Given the description of an element on the screen output the (x, y) to click on. 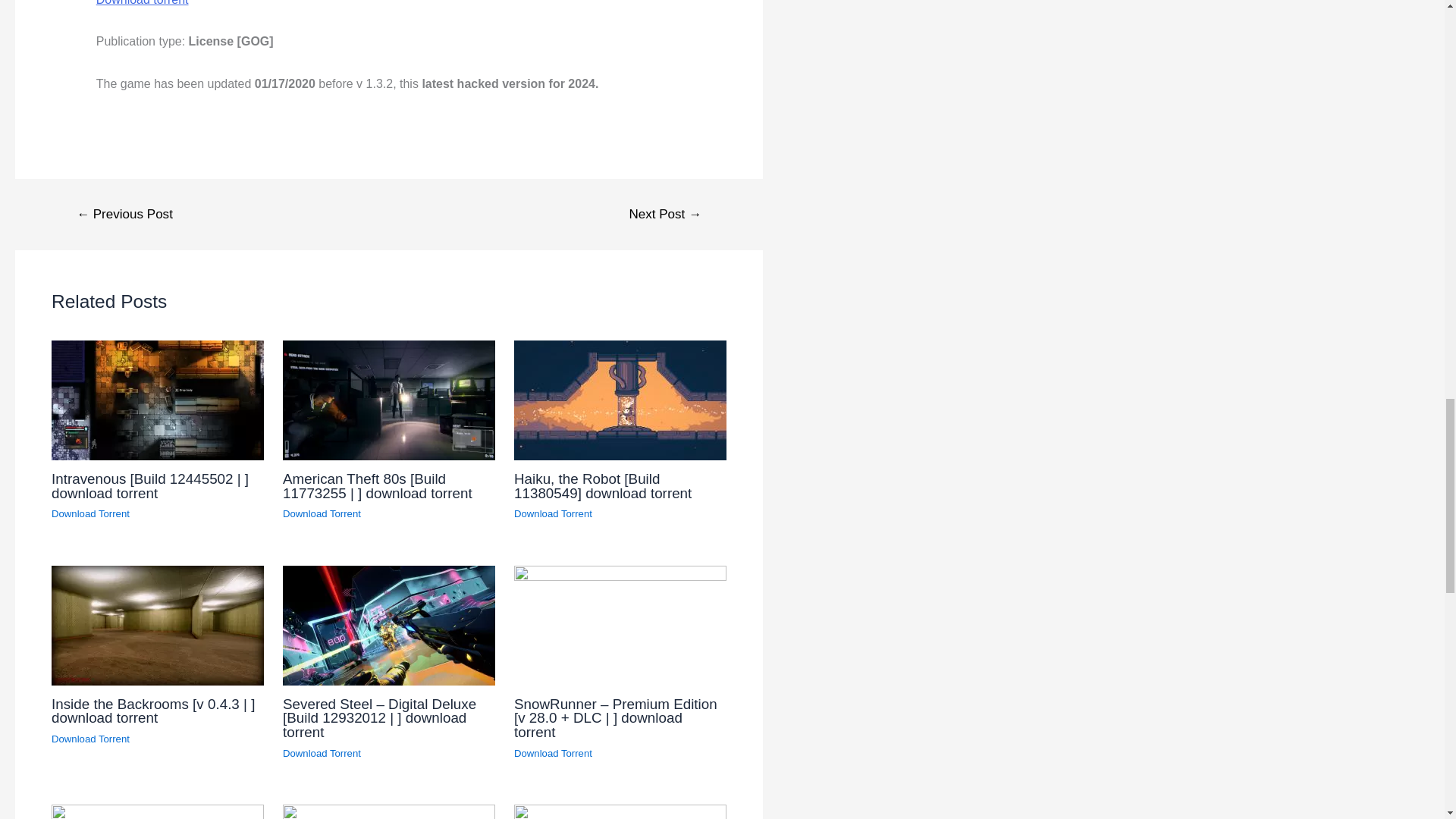
Download Torrent (321, 753)
Download Torrent (552, 753)
Download Torrent (321, 513)
Download Torrent (89, 513)
Download Torrent (552, 513)
Download torrent (142, 2)
Download Torrent (89, 738)
